Given the description of an element on the screen output the (x, y) to click on. 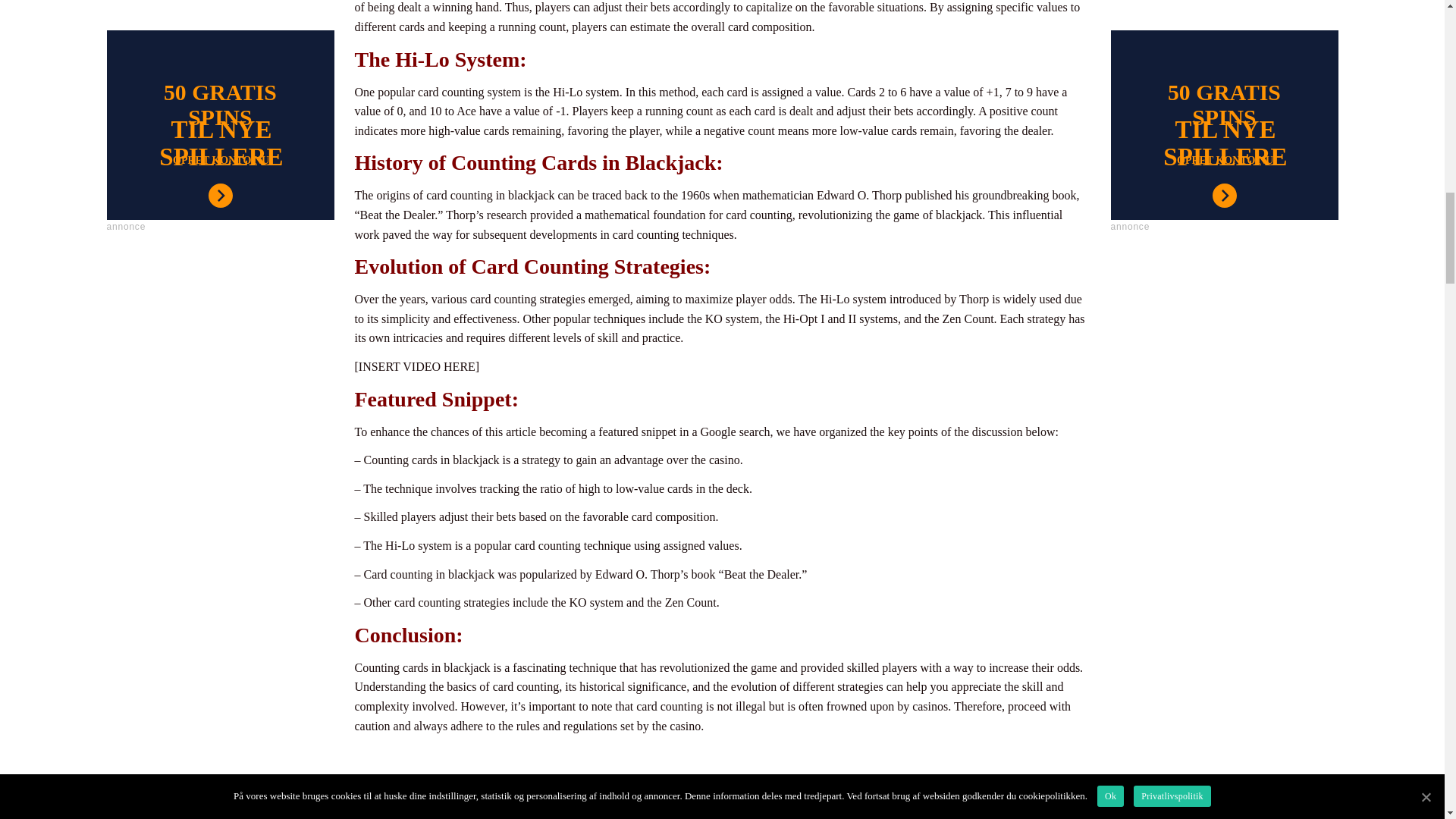
blackjack (721, 794)
